Given the description of an element on the screen output the (x, y) to click on. 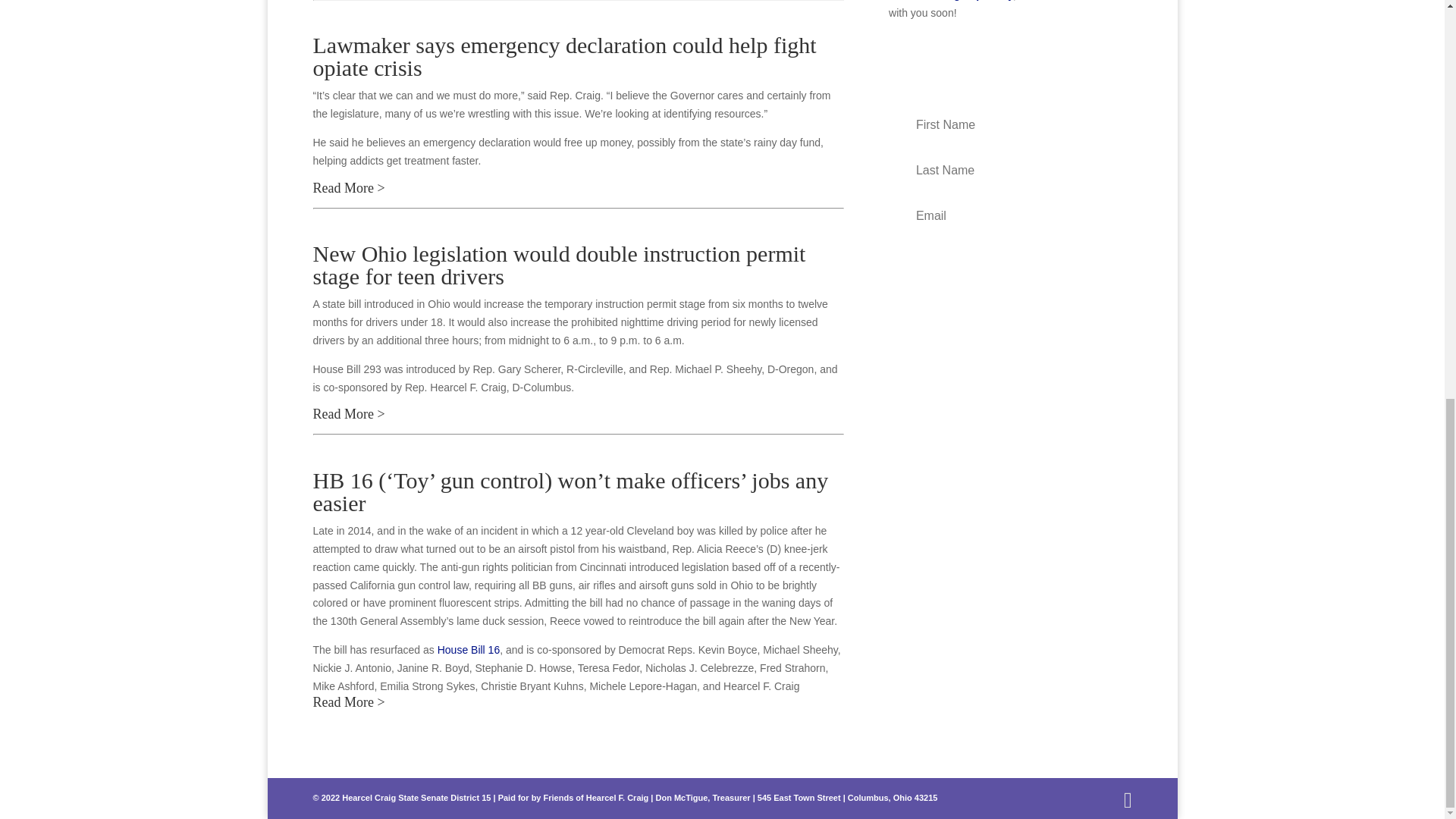
Sign Up! (1009, 262)
Sign up today (978, 0)
House Bill 16 (469, 649)
